Given the description of an element on the screen output the (x, y) to click on. 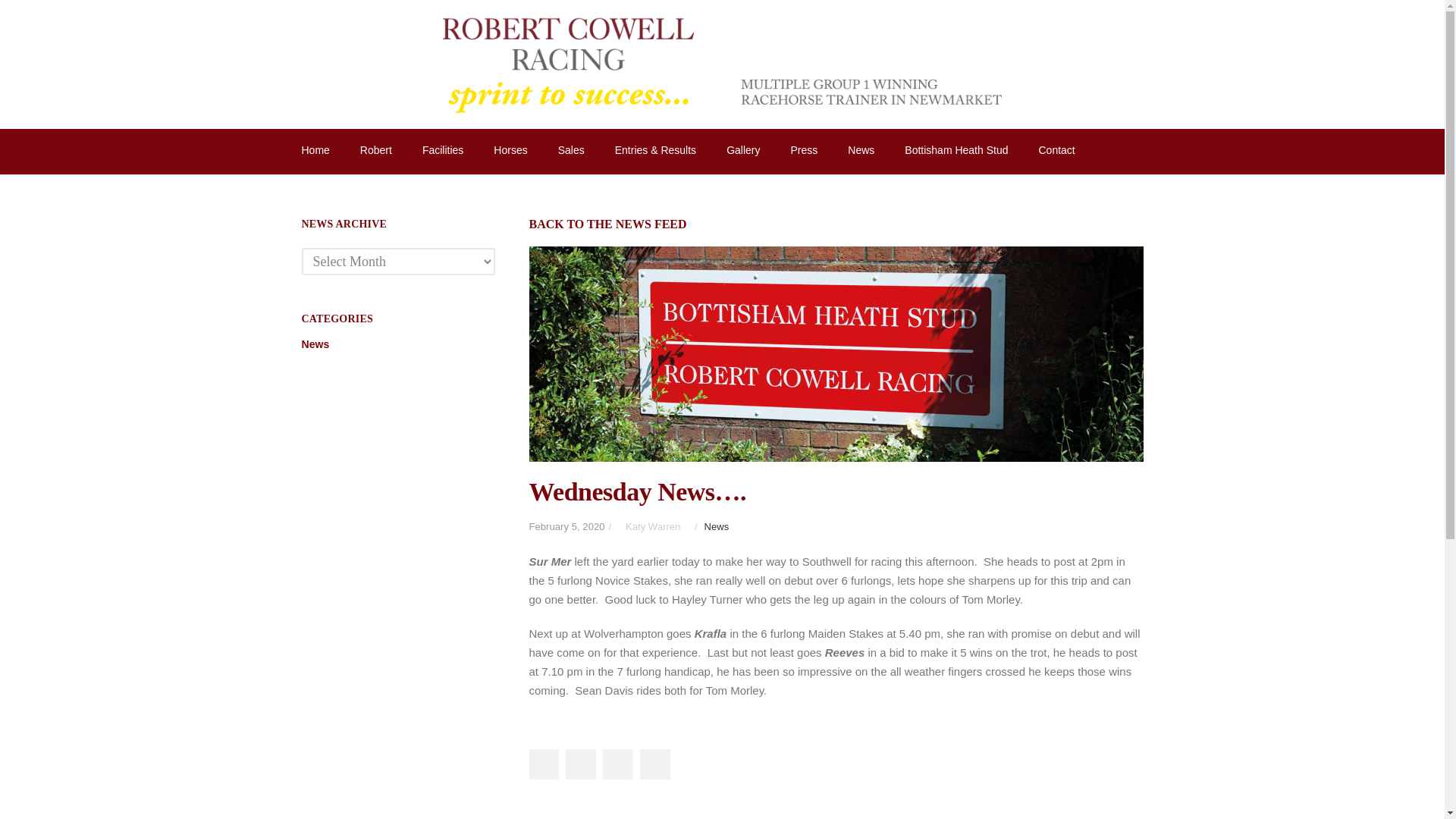
News (716, 526)
Facebook (542, 764)
Twitter (580, 764)
News (316, 344)
Facilities (442, 151)
Bottisham Heath Stud (955, 151)
BACK TO THE NEWS FEED (608, 223)
Pinterest (654, 764)
